Given the description of an element on the screen output the (x, y) to click on. 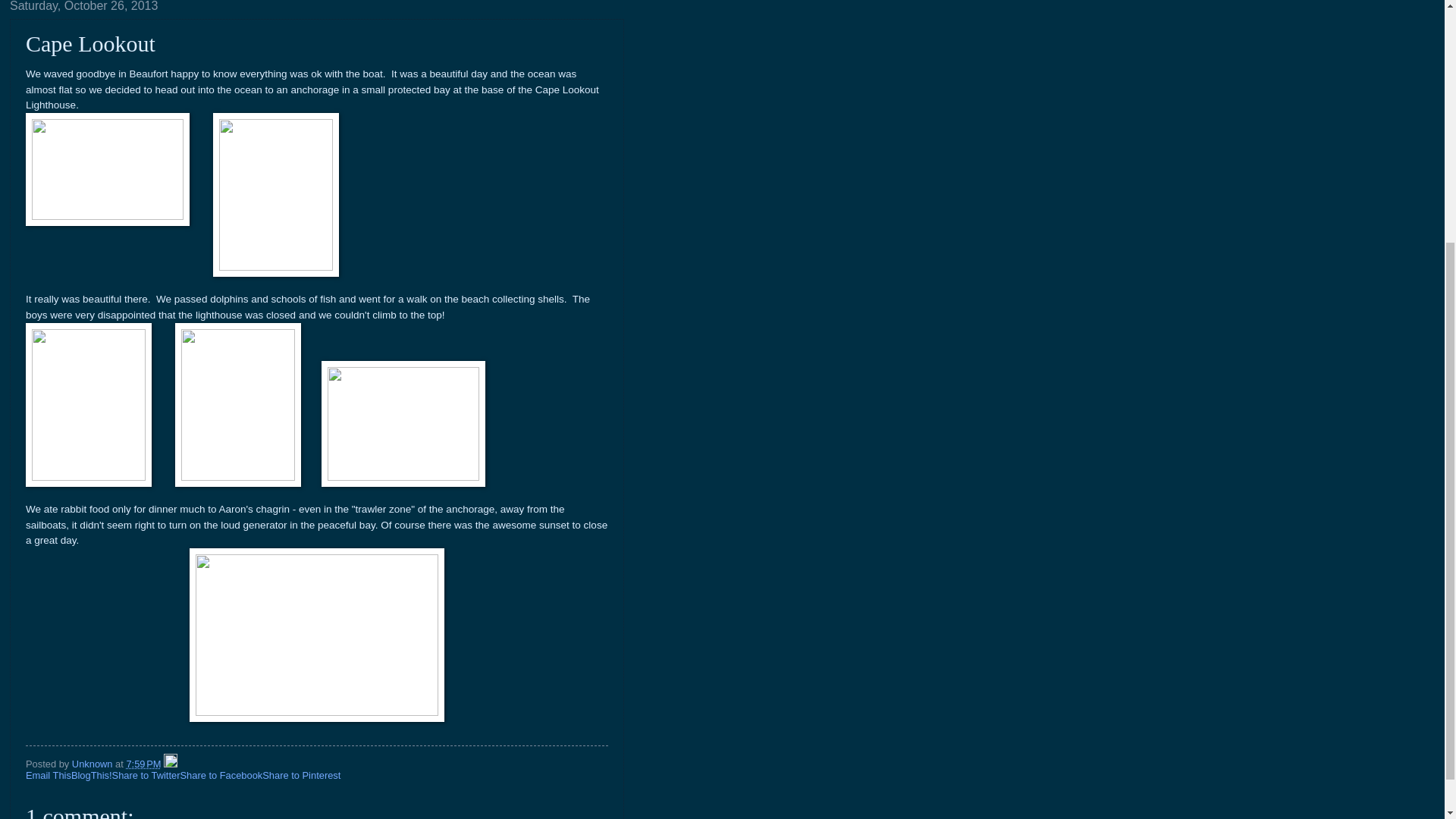
BlogThis! (91, 775)
Share to Facebook (220, 775)
author profile (93, 763)
Share to Twitter (146, 775)
permanent link (142, 763)
Unknown (93, 763)
Email This (48, 775)
Share to Pinterest (301, 775)
Share to Pinterest (301, 775)
BlogThis! (91, 775)
Email This (48, 775)
Share to Twitter (146, 775)
Edit Post (170, 763)
Share to Facebook (220, 775)
